Given the description of an element on the screen output the (x, y) to click on. 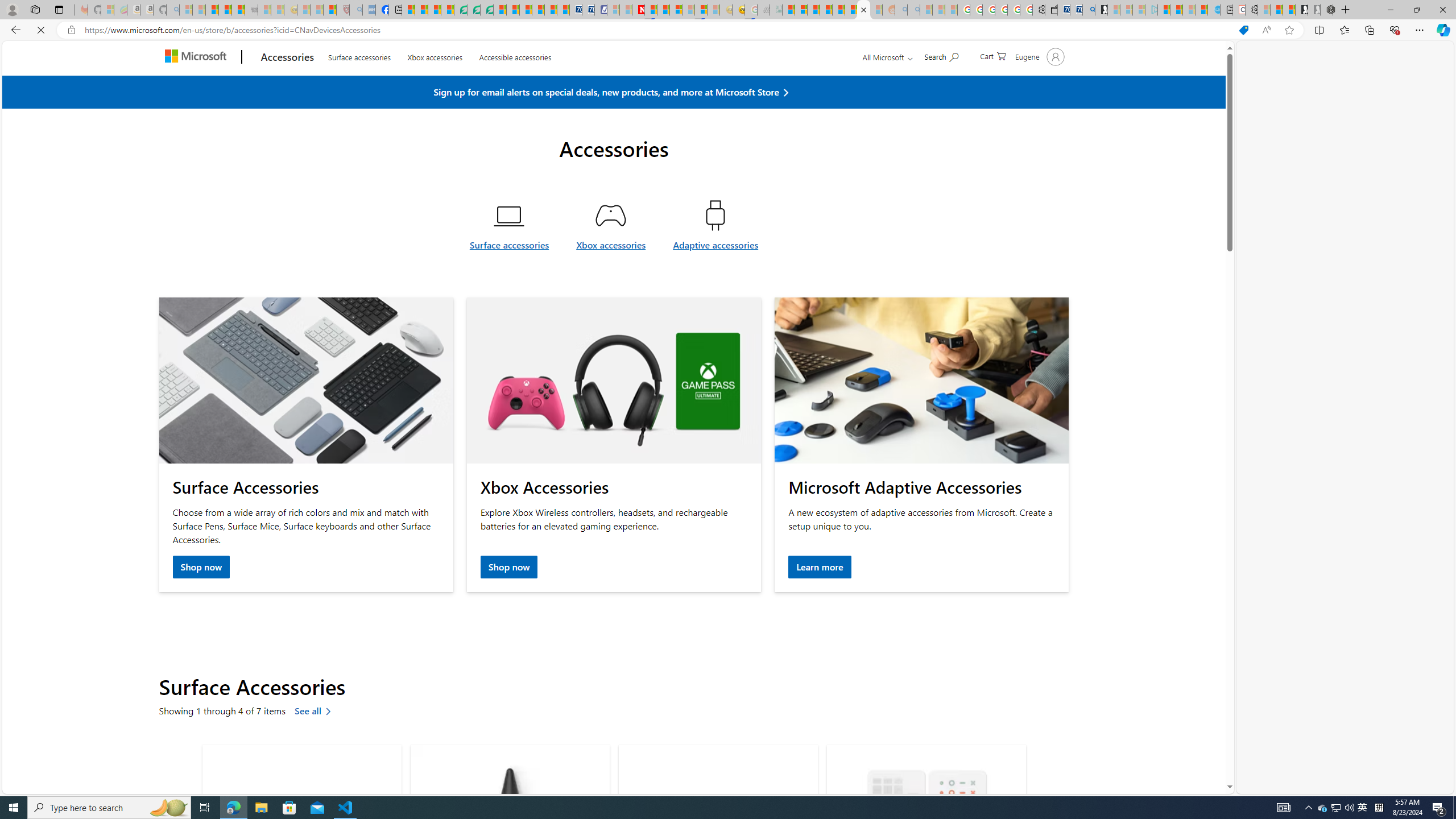
Surface accessories (508, 251)
Wallet (1050, 9)
Xbox accessories (611, 272)
